Given the description of an element on the screen output the (x, y) to click on. 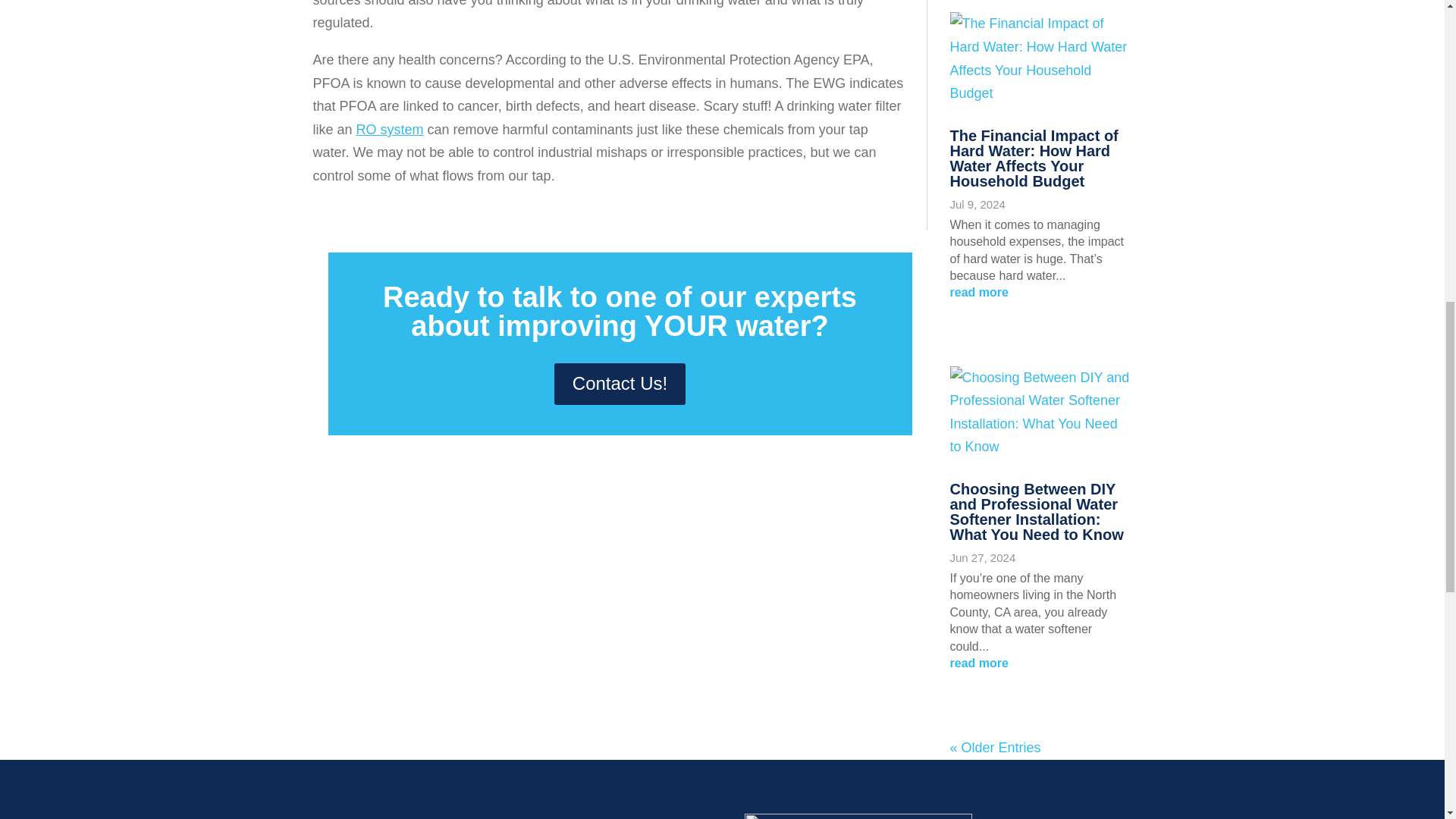
Contact Us! (619, 383)
RO system (389, 129)
